Given the description of an element on the screen output the (x, y) to click on. 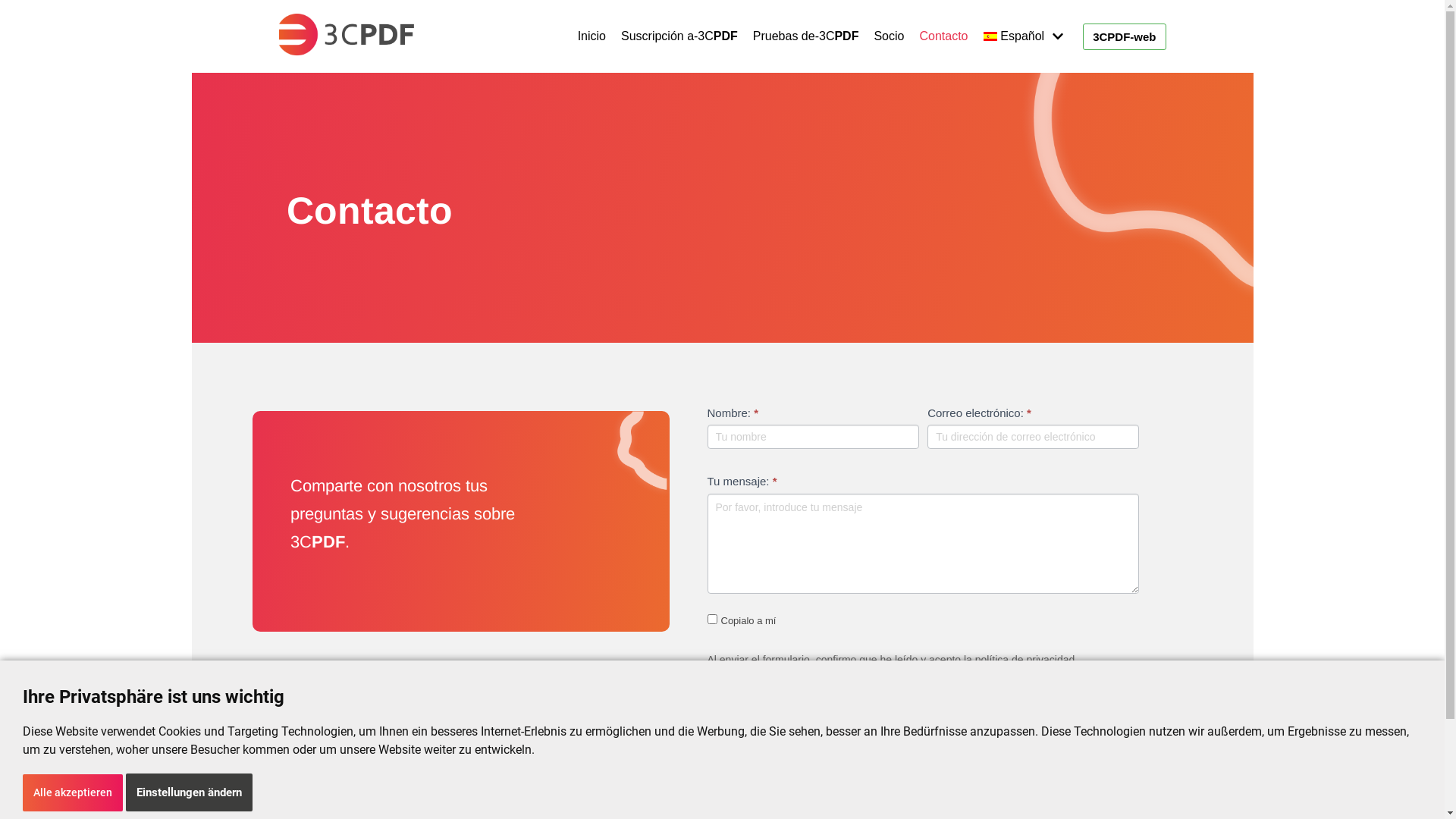
Socio Element type: text (888, 36)
Inicio Element type: text (591, 36)
ENVIAR AHORA Element type: text (764, 721)
3CPDF-web Element type: text (1123, 36)
Contacto Element type: text (943, 36)
Saltar al contenido Element type: text (15, 31)
Alle akzeptieren Element type: text (72, 791)
Pruebas de-3C
PDF Element type: text (806, 36)
3CPDF Element type: hover (347, 36)
